Given the description of an element on the screen output the (x, y) to click on. 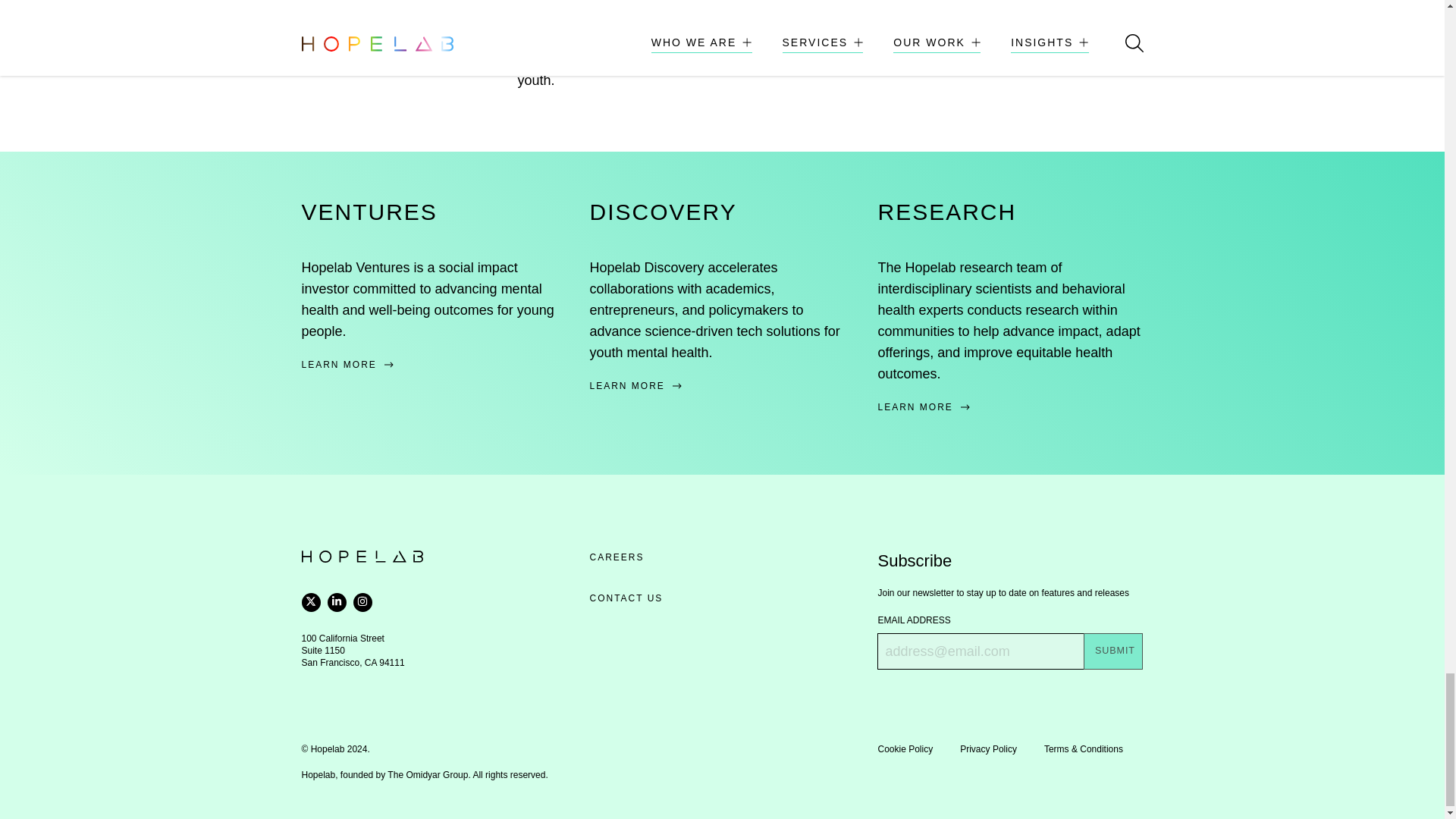
DISCOVERY (662, 211)
VENTURES (369, 211)
LEARN MORE (434, 364)
RESEARCH (946, 211)
LEARN MORE (721, 386)
